Given the description of an element on the screen output the (x, y) to click on. 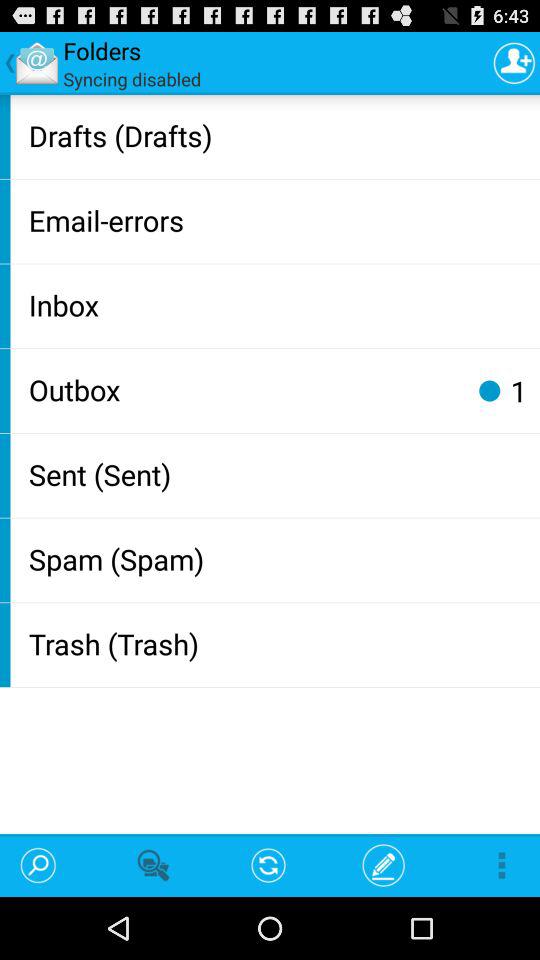
jump until inbox app (280, 304)
